Given the description of an element on the screen output the (x, y) to click on. 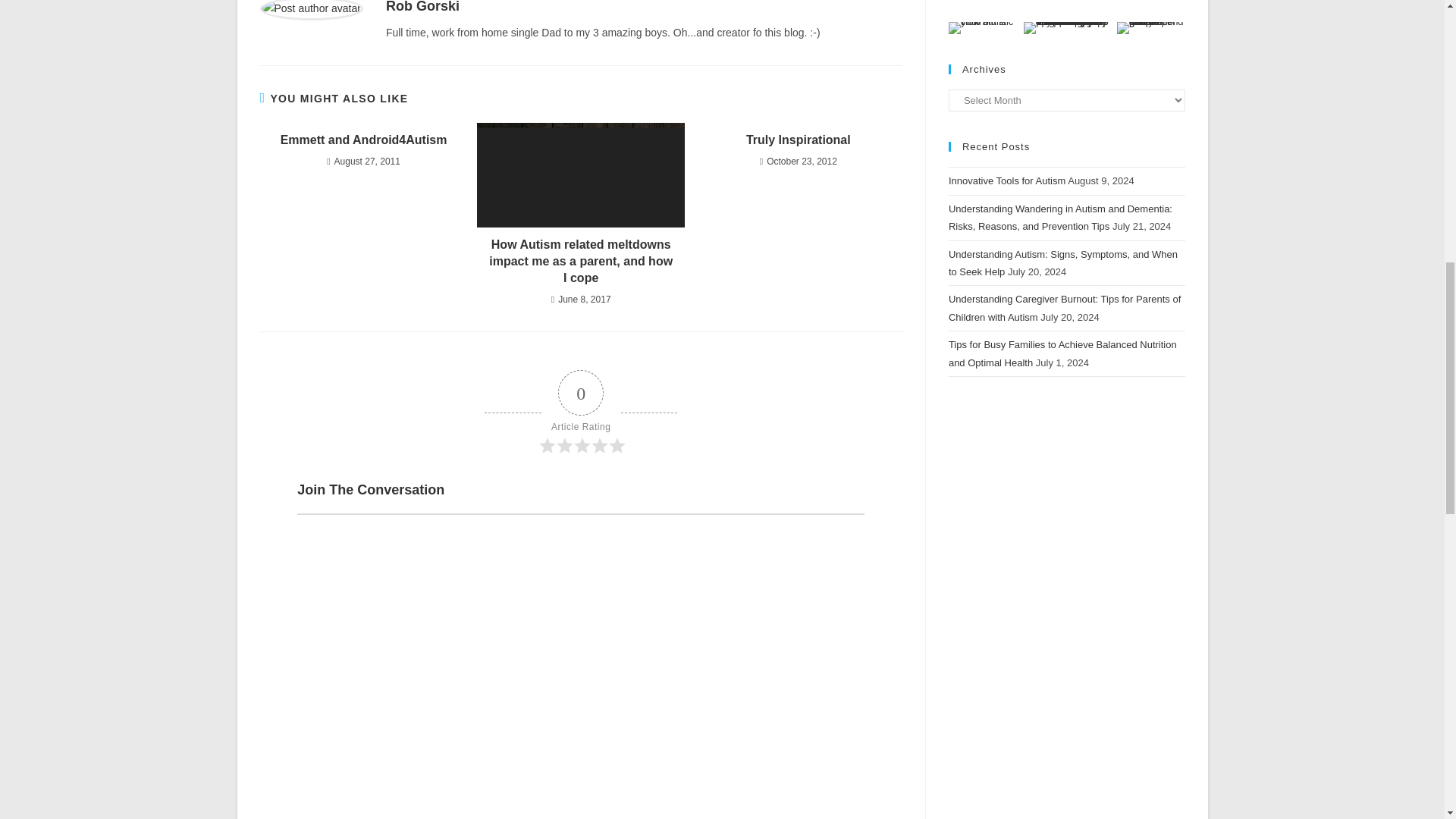
Visit author page (422, 6)
Visit author page (310, 7)
